Given the description of an element on the screen output the (x, y) to click on. 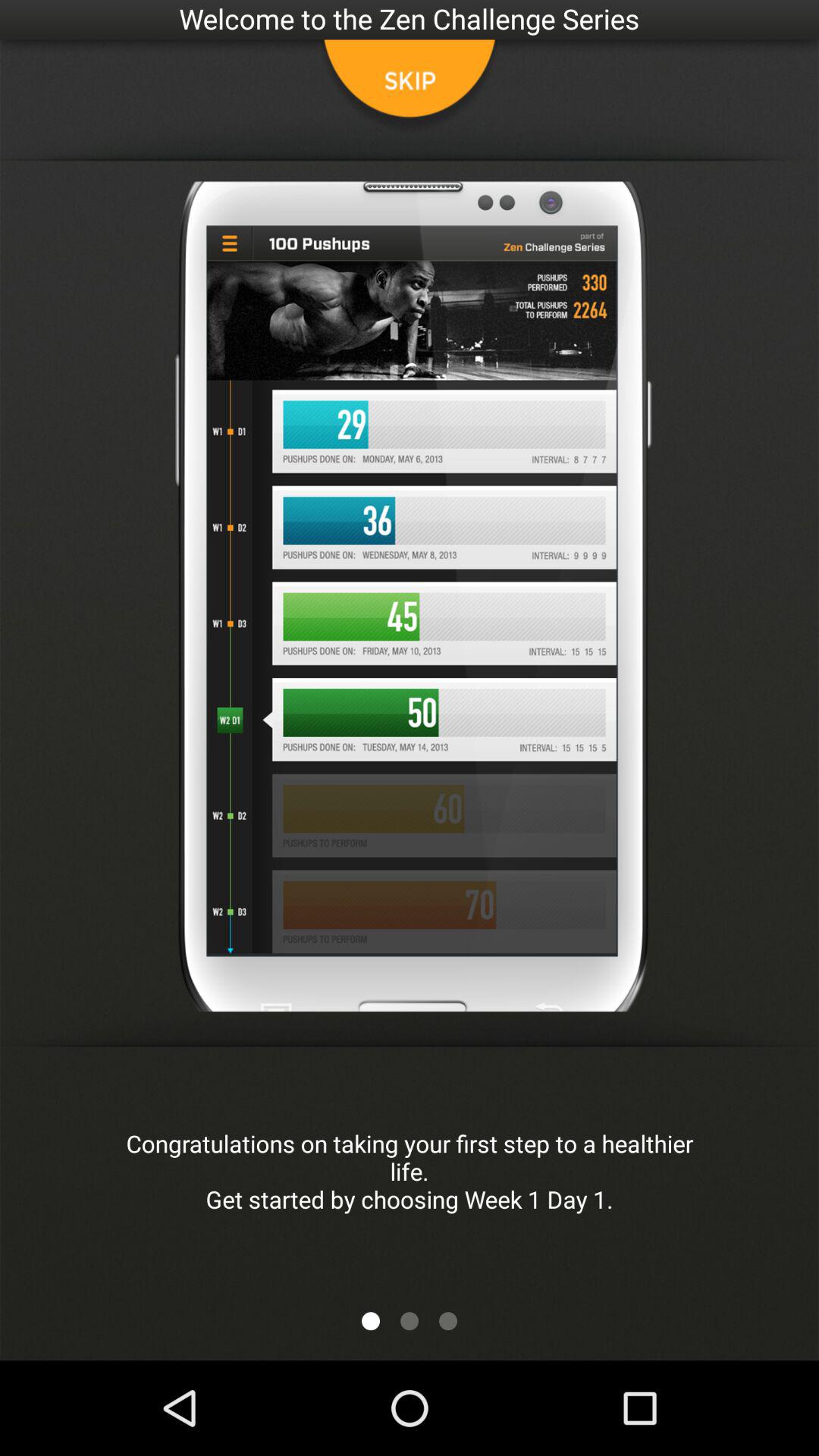
press the icon below the congratulations on taking app (409, 1321)
